Given the description of an element on the screen output the (x, y) to click on. 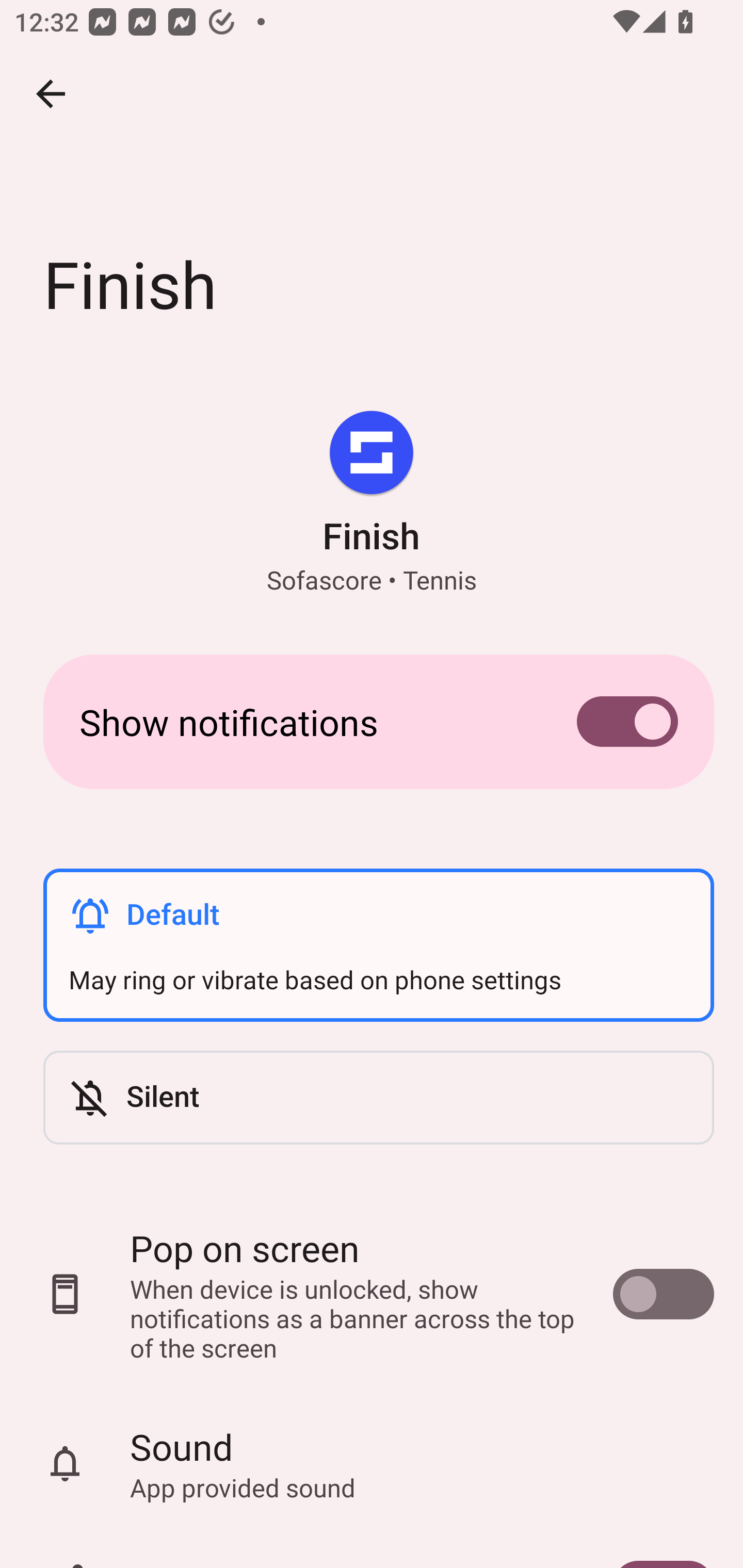
Navigate up (50, 93)
Finish Sofascore • Tennis (371, 503)
Show notifications (371, 721)
Silent (378, 1097)
Sound App provided sound (371, 1463)
